Given the description of an element on the screen output the (x, y) to click on. 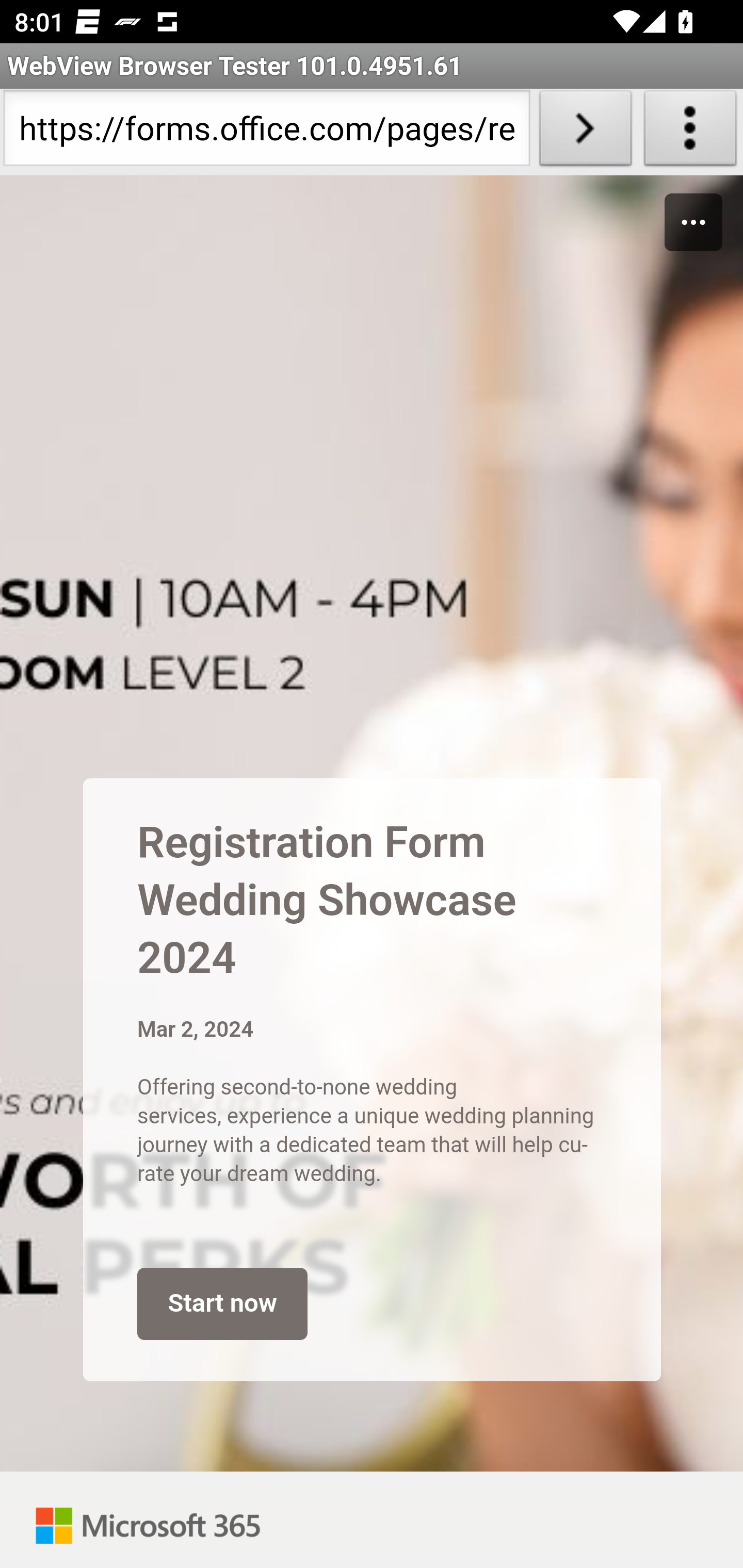
Load URL (585, 132)
About WebView (690, 132)
Microsoft 365 (148, 1519)
